Given the description of an element on the screen output the (x, y) to click on. 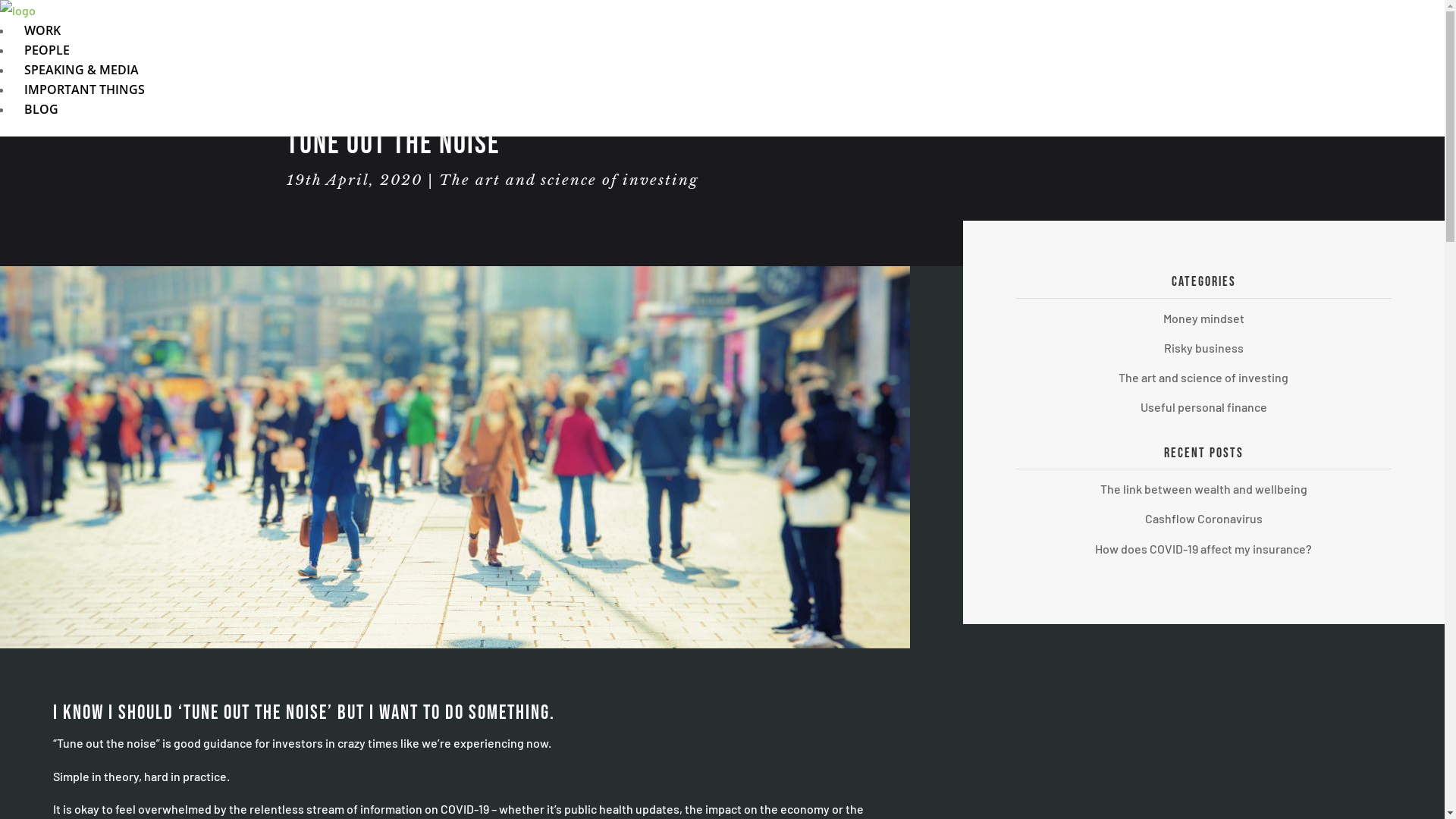
BLOG Element type: text (41, 109)
IMPORTANT THINGS Element type: text (84, 89)
The link between wealth and wellbeing Element type: text (1203, 488)
The art and science of investing Element type: text (1203, 377)
SPEAKING & MEDIA Element type: text (81, 69)
Money mindset Element type: text (1203, 317)
Tune Out The Noise Element type: hover (455, 457)
The art and science of investing Element type: text (568, 179)
Cashflow Coronavirus Element type: text (1203, 518)
How does COVID-19 affect my insurance? Element type: text (1203, 548)
PEOPLE Element type: text (46, 49)
WORK Element type: text (42, 30)
Risky business Element type: text (1203, 347)
Useful personal finance Element type: text (1203, 406)
